Given the description of an element on the screen output the (x, y) to click on. 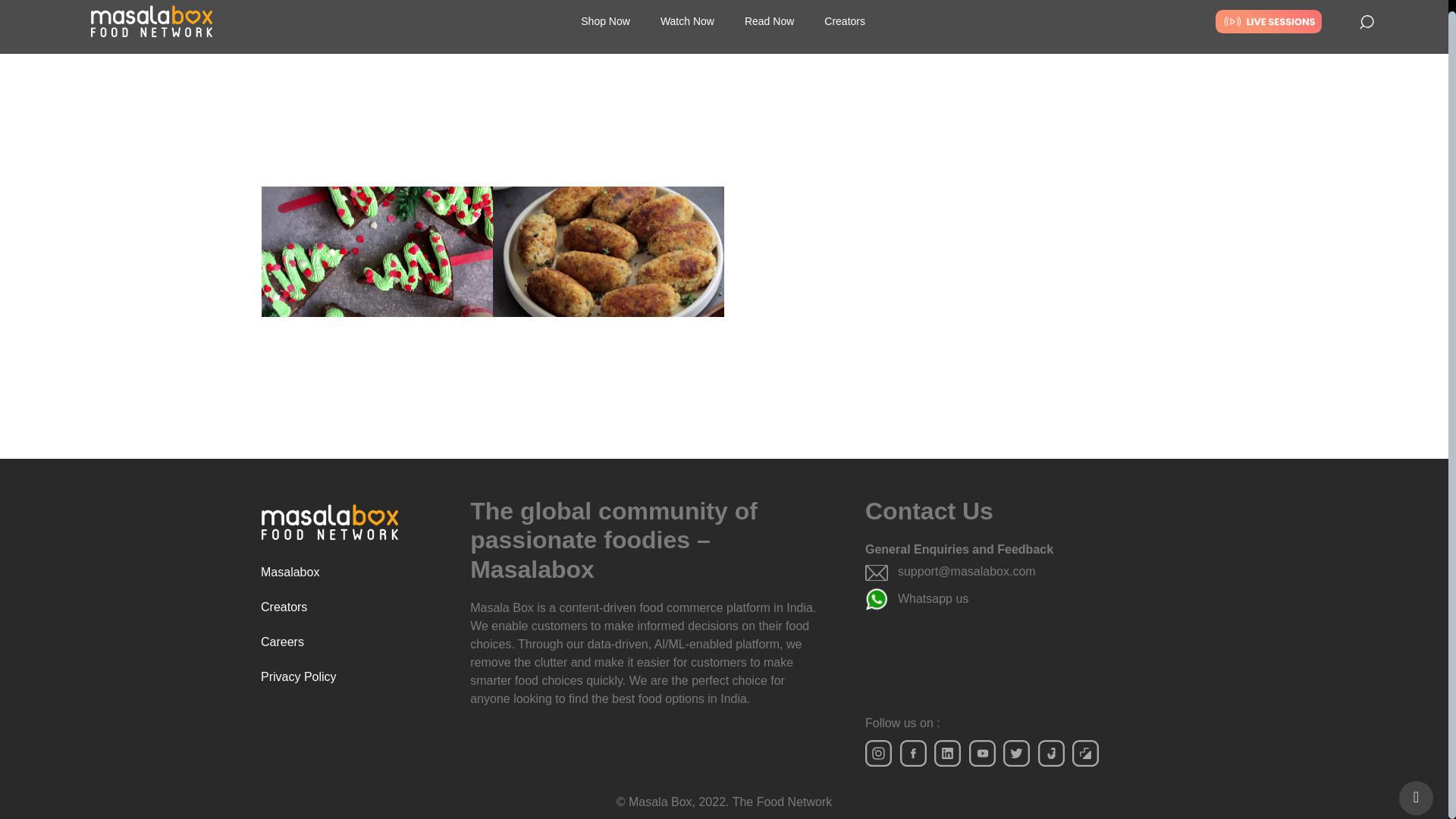
Creators (844, 15)
Privacy Policy (354, 677)
Xmas Brownie tree cake (319, 444)
Chicken Croquettes (539, 444)
Read Now (769, 7)
Masalabox (354, 572)
Watch Now (687, 6)
Careers (354, 642)
Creators (354, 606)
